Given the description of an element on the screen output the (x, y) to click on. 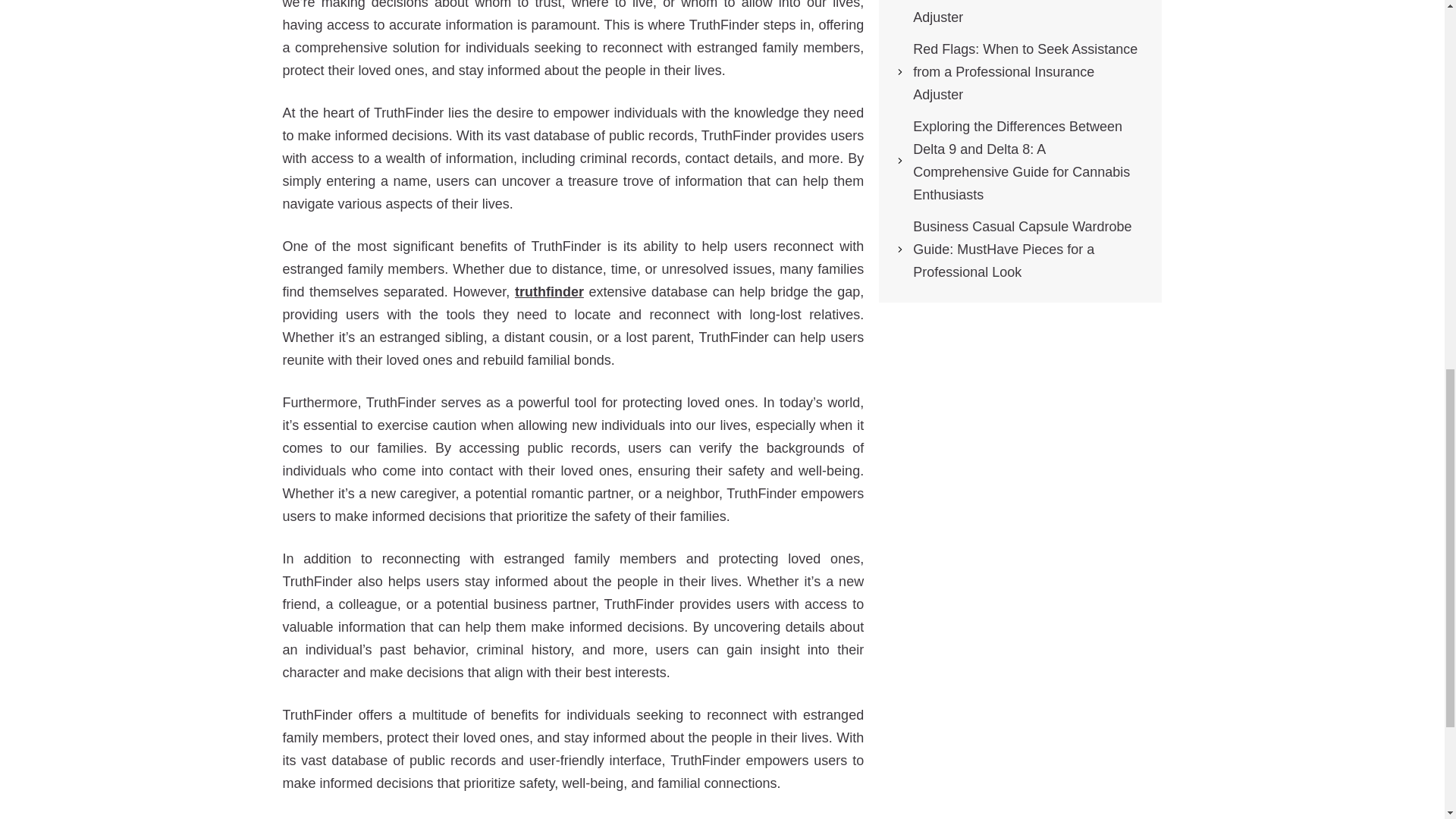
truthfinder (549, 291)
